Given the description of an element on the screen output the (x, y) to click on. 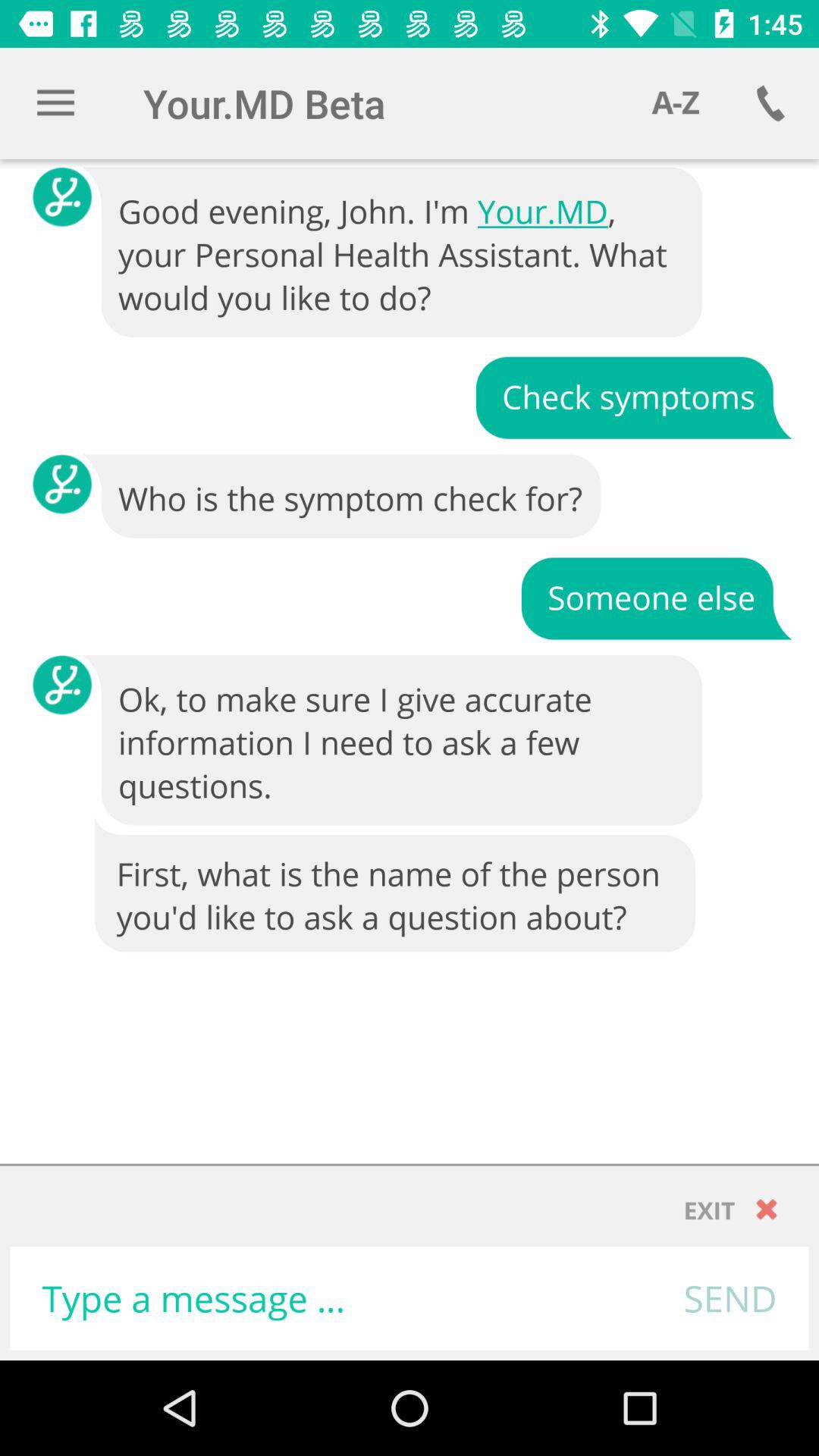
jump to check symptoms item (633, 396)
